Given the description of an element on the screen output the (x, y) to click on. 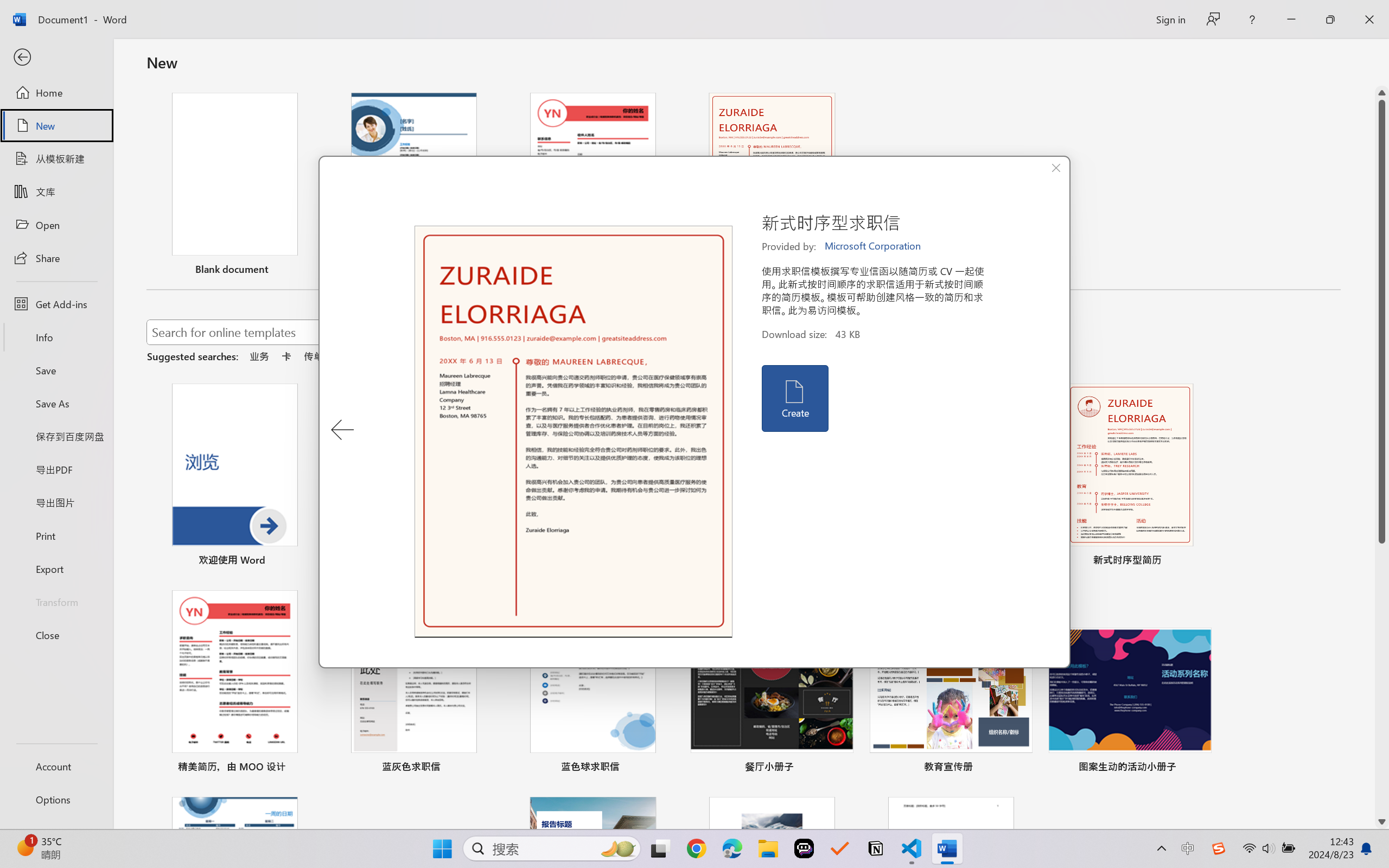
Search for online templates (389, 333)
Back (56, 57)
Create (794, 398)
Preview (573, 431)
